Given the description of an element on the screen output the (x, y) to click on. 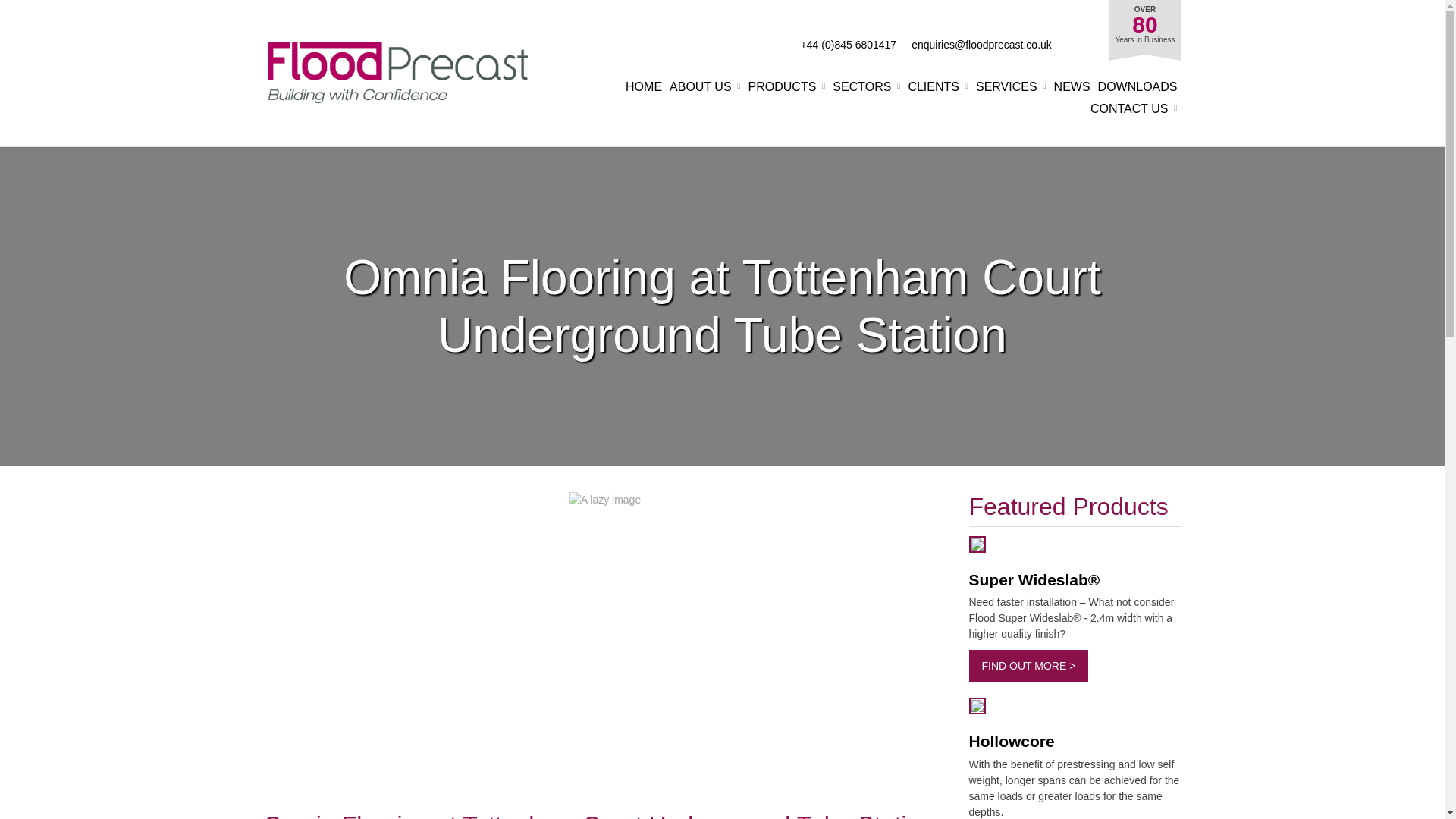
SECTORS (865, 86)
HOME (644, 86)
CLIENTS (937, 86)
ABOUT US (705, 86)
PRODUCTS (786, 86)
